Given the description of an element on the screen output the (x, y) to click on. 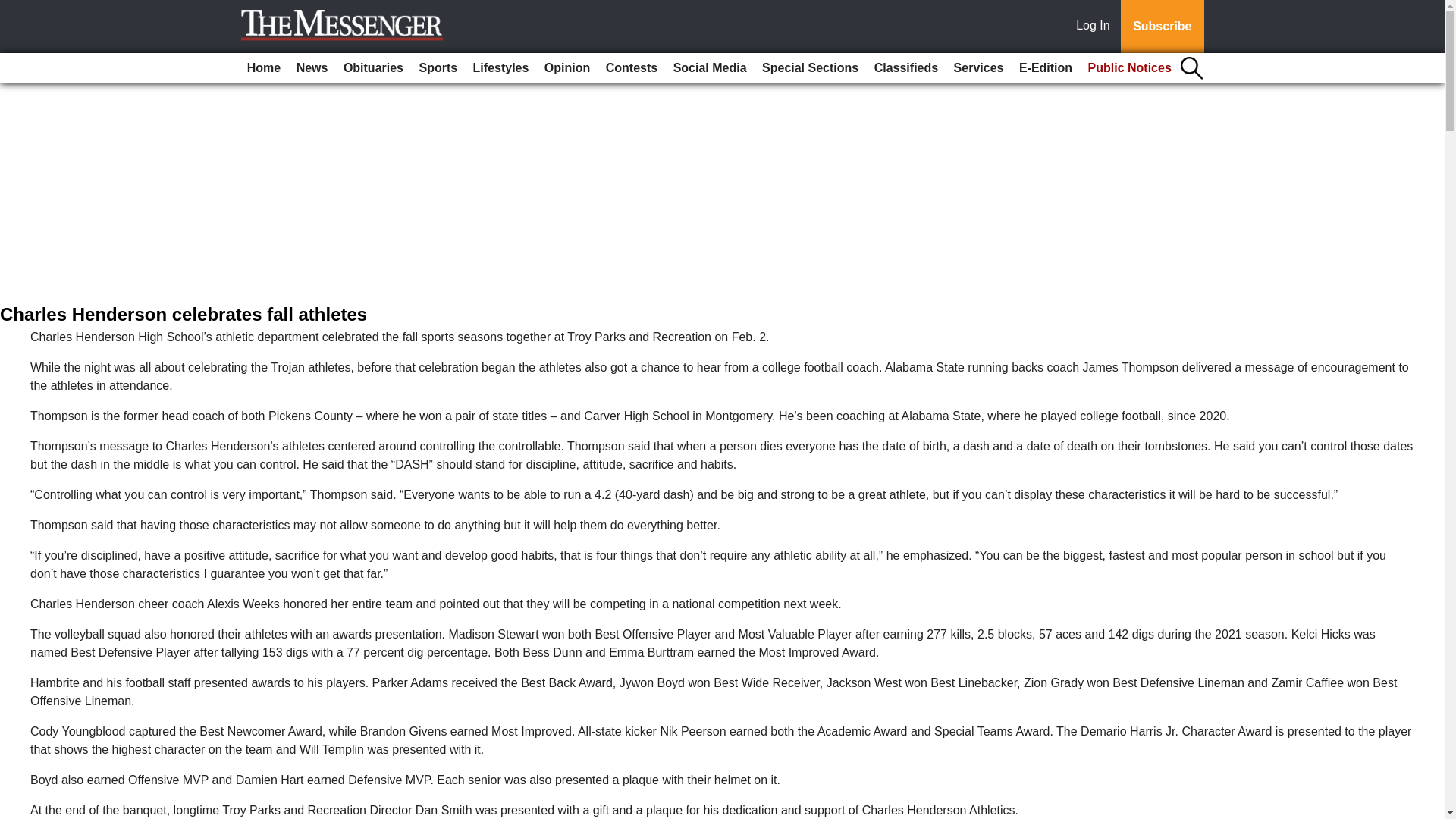
Sports (437, 68)
Obituaries (373, 68)
Classifieds (905, 68)
News (311, 68)
Log In (1095, 26)
Subscribe (1162, 26)
Opinion (566, 68)
E-Edition (1045, 68)
Services (978, 68)
Social Media (709, 68)
Lifestyles (501, 68)
Home (263, 68)
Contests (631, 68)
Special Sections (809, 68)
